Given the description of an element on the screen output the (x, y) to click on. 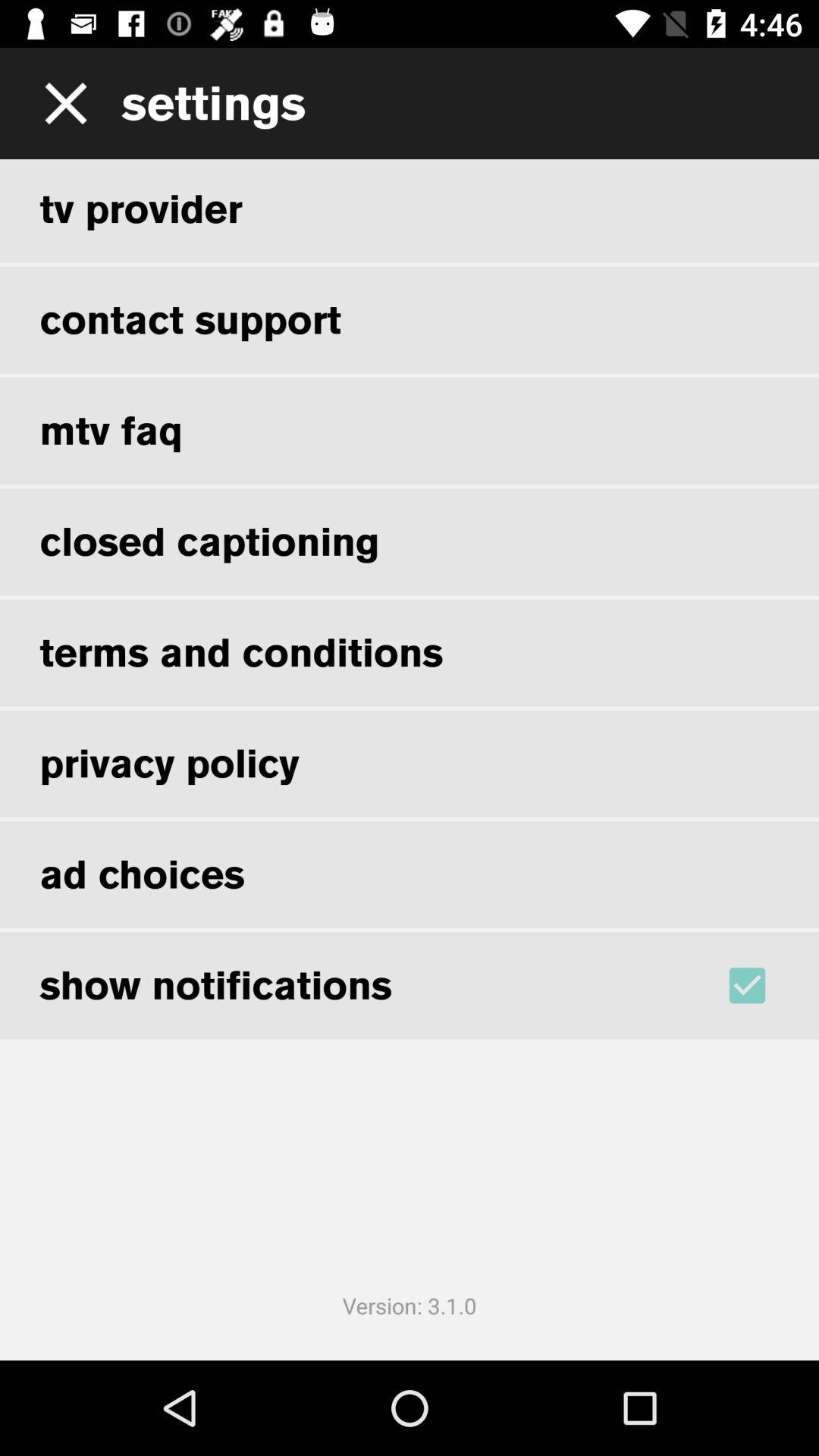
closes out of settings (60, 103)
